Given the description of an element on the screen output the (x, y) to click on. 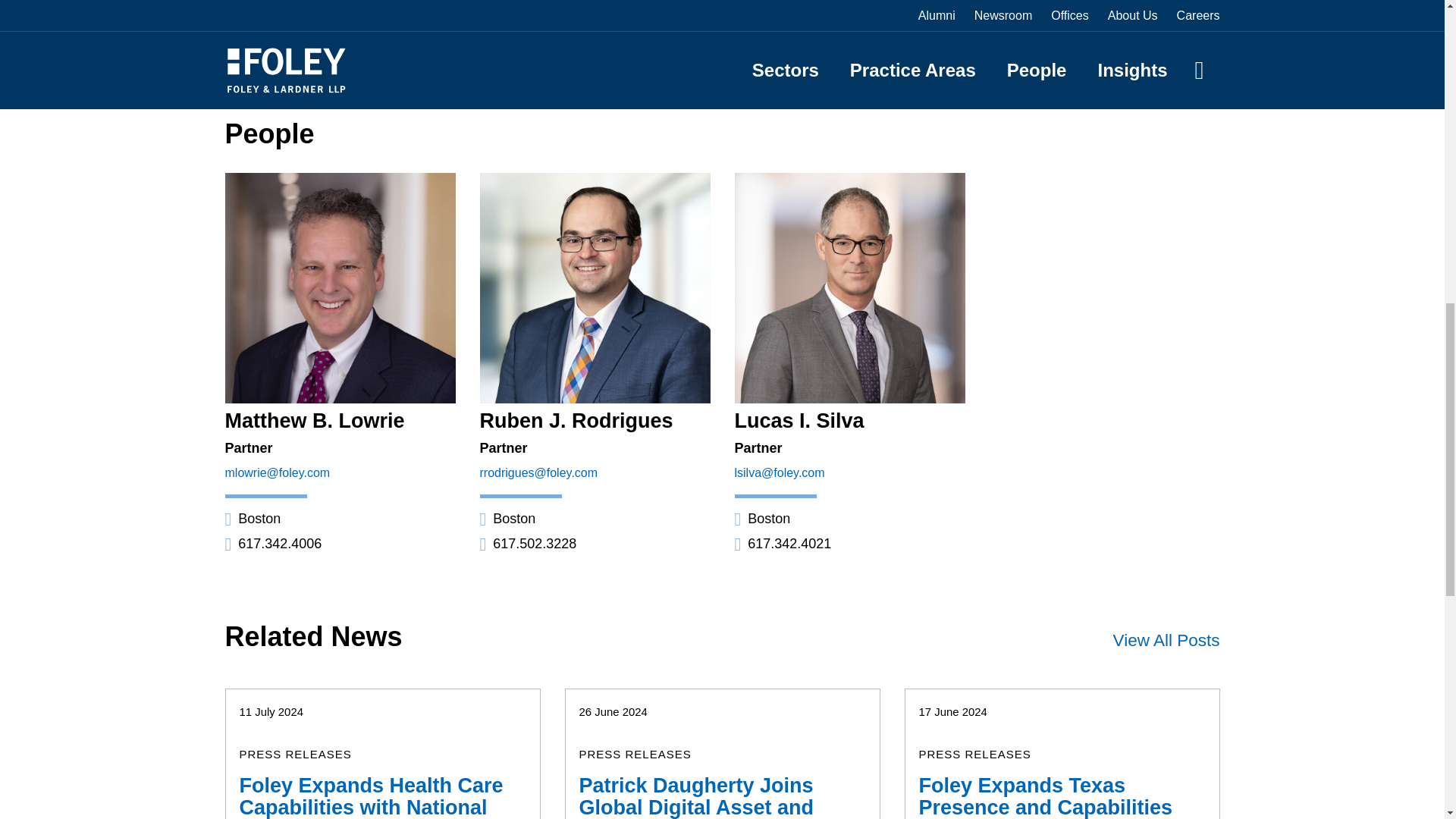
Matthew B. Lowrie (314, 420)
